Given the description of an element on the screen output the (x, y) to click on. 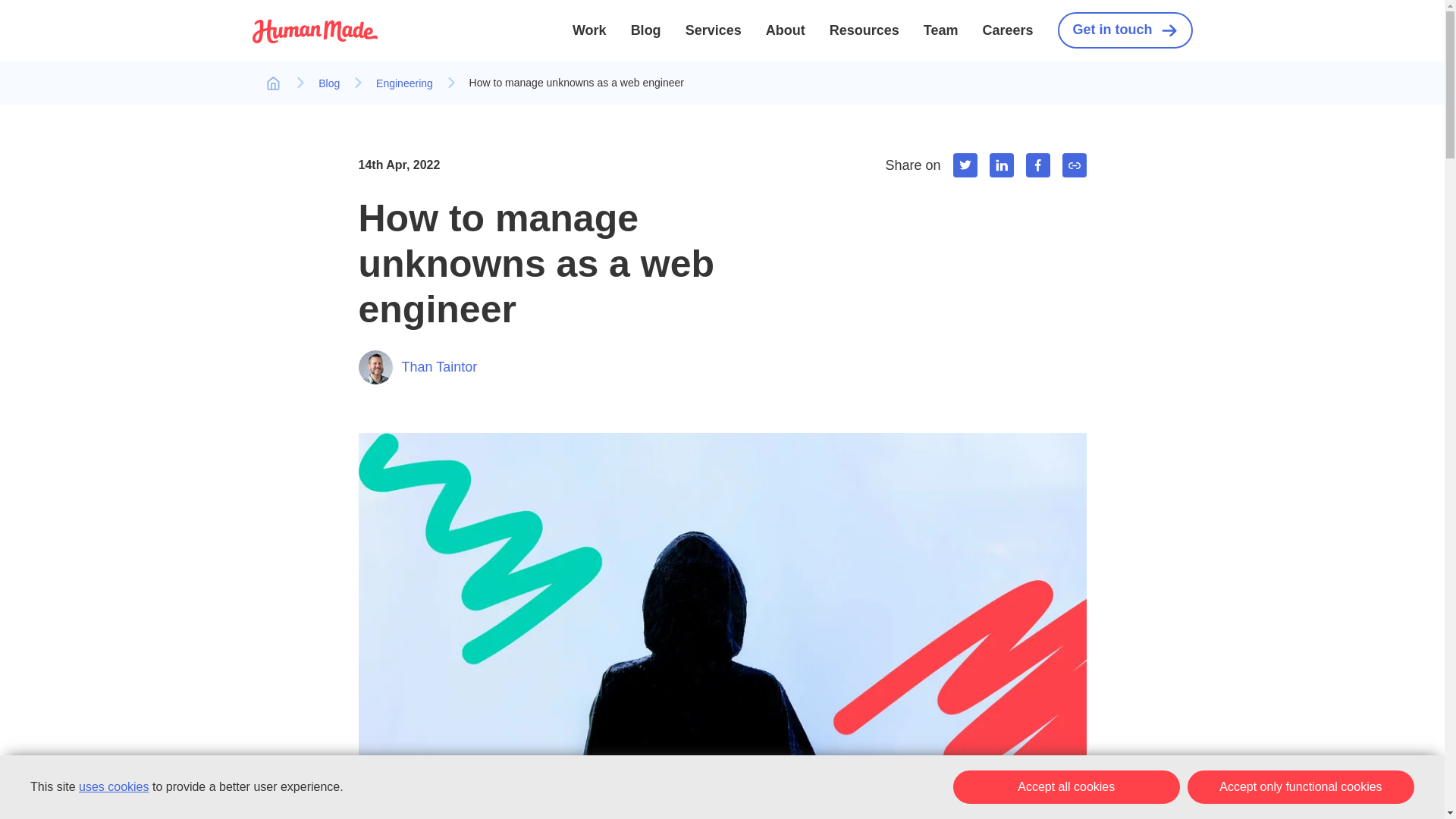
Blog (645, 29)
Twitter (964, 165)
Accept only functional cookies (1300, 786)
About (785, 29)
Get in touch (1124, 29)
Careers (1006, 29)
Home (272, 83)
Work (589, 29)
Services (713, 29)
Copy URL (1073, 165)
LinkedIn (1000, 165)
Human Made (314, 38)
Engineering (403, 83)
Team (940, 29)
uses cookies (113, 786)
